Given the description of an element on the screen output the (x, y) to click on. 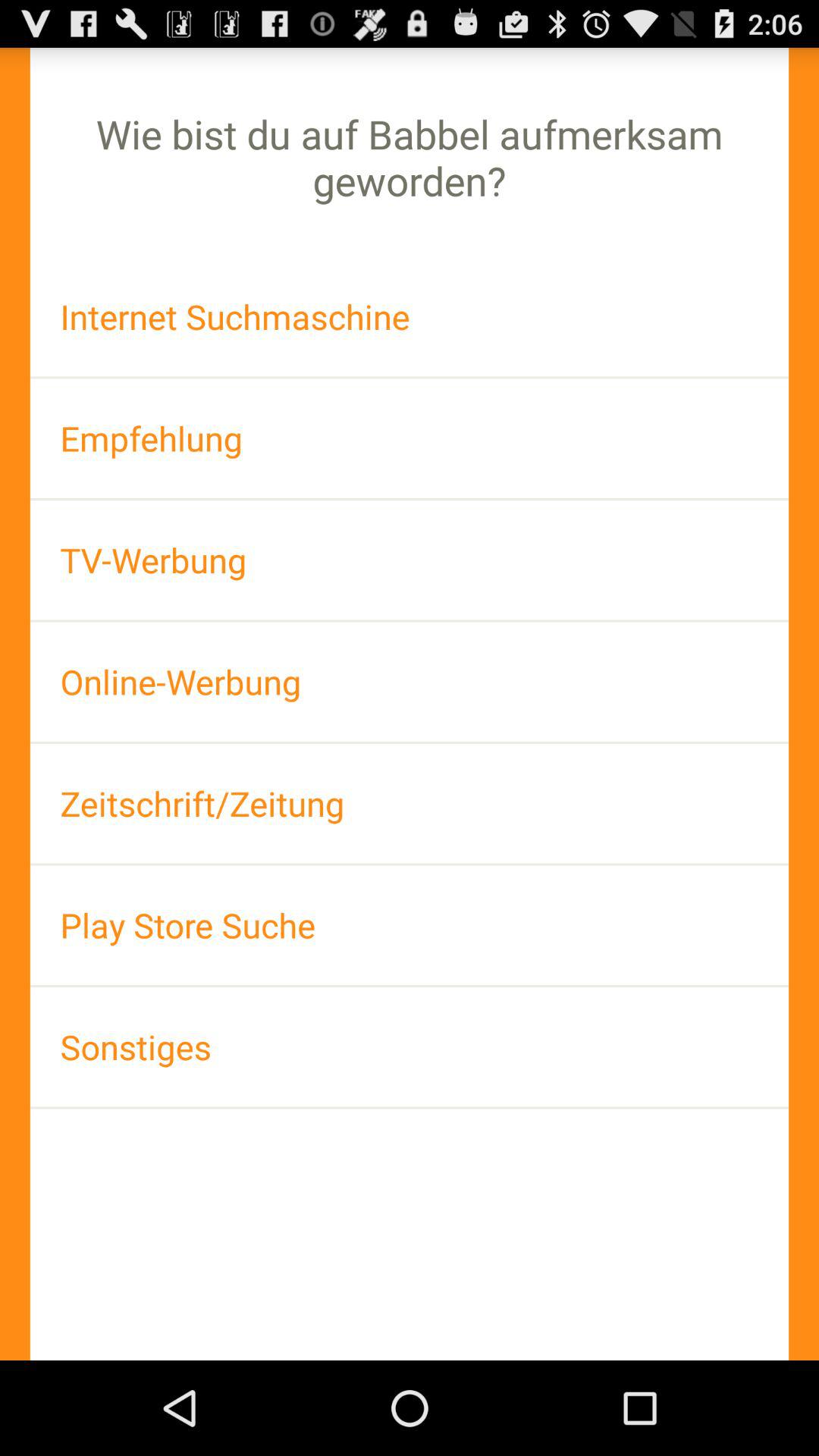
turn off item above the empfehlung item (409, 316)
